Given the description of an element on the screen output the (x, y) to click on. 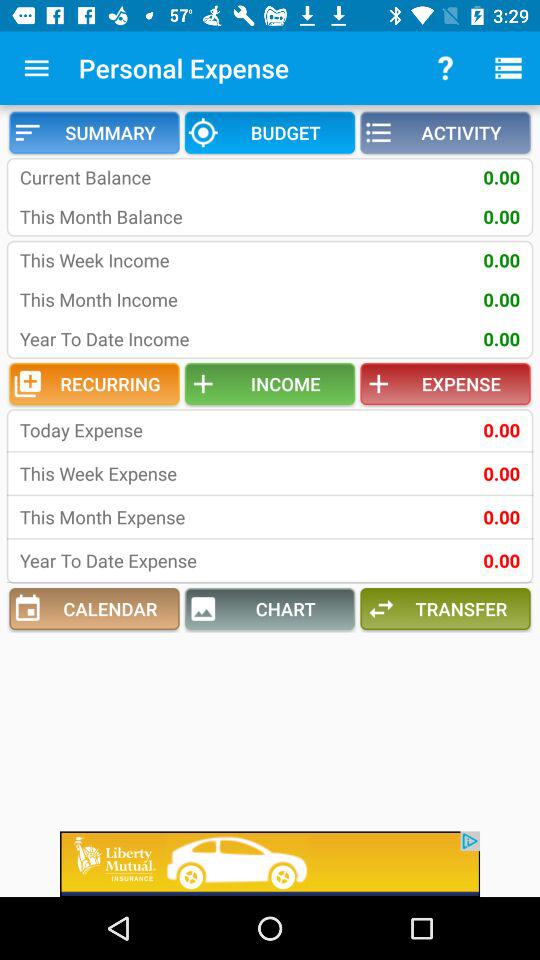
tap item next to 0.00 icon (149, 429)
